Given the description of an element on the screen output the (x, y) to click on. 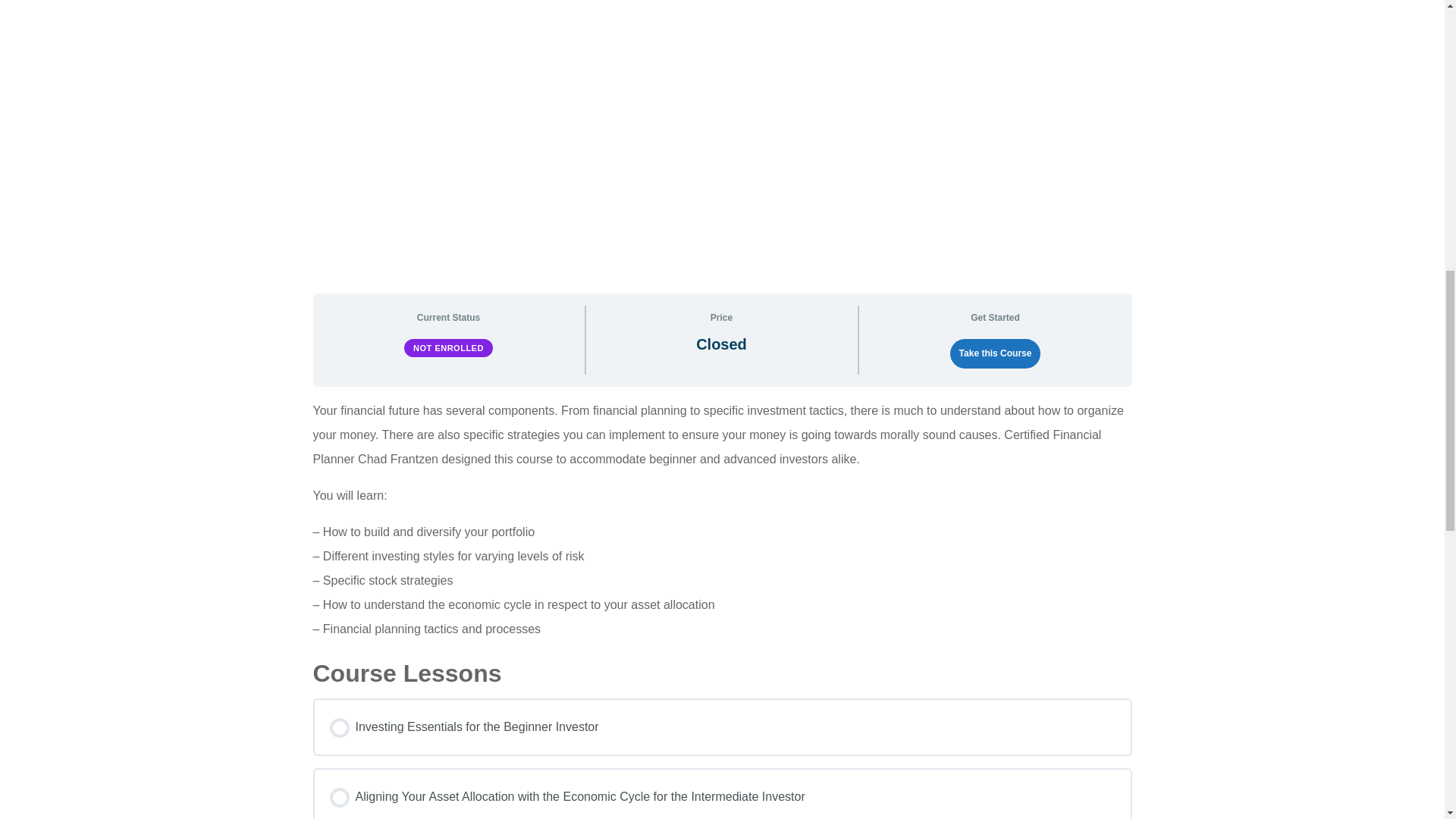
Take this Course (995, 353)
Investing Essentials for the Beginner Investor (722, 726)
